Given the description of an element on the screen output the (x, y) to click on. 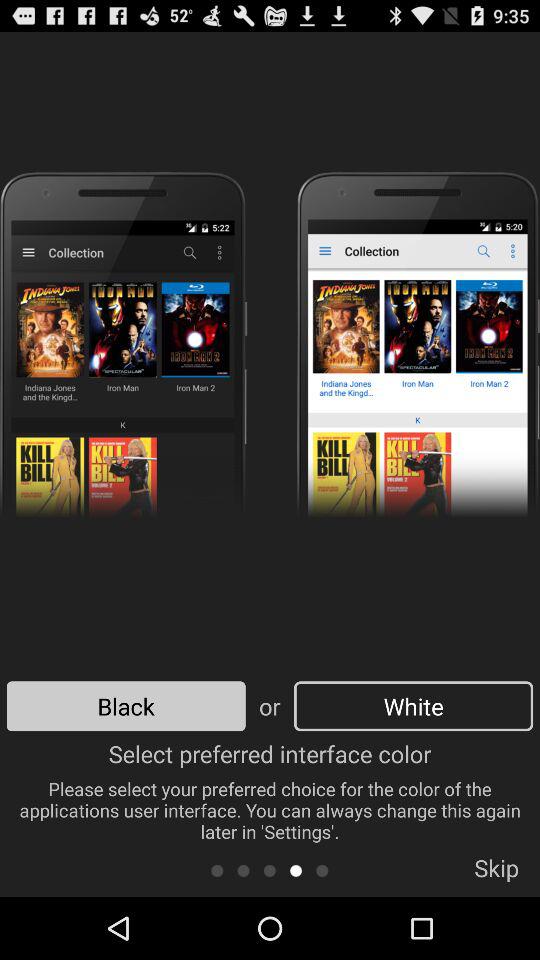
jump to the black item (125, 706)
